Given the description of an element on the screen output the (x, y) to click on. 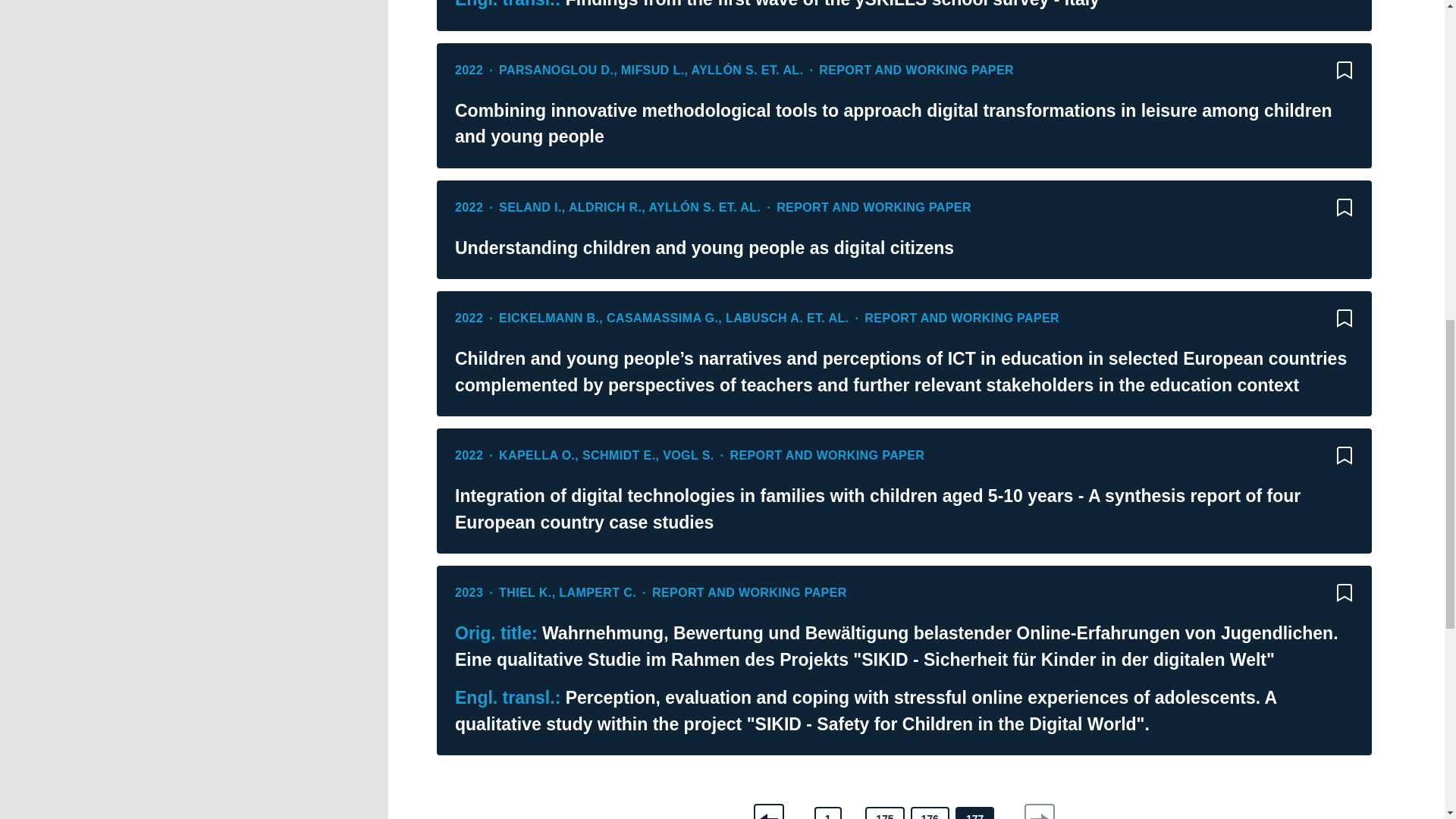
1 (827, 812)
176 (930, 812)
Understanding children and young people as digital citizens (904, 248)
Previous (769, 811)
Next (1039, 811)
175 (884, 812)
